Given the description of an element on the screen output the (x, y) to click on. 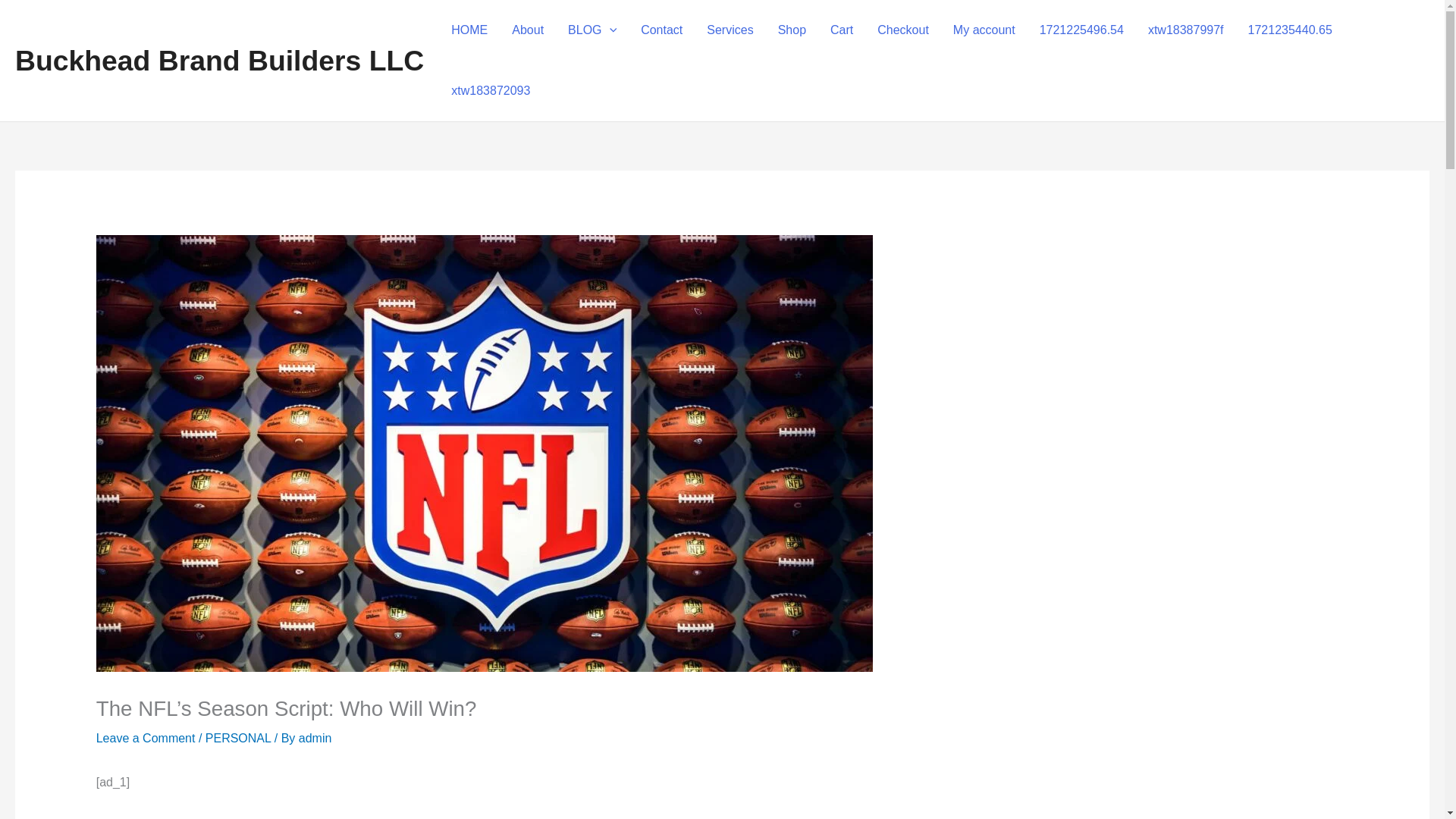
admin (314, 738)
Services (729, 30)
BLOG (592, 30)
1721225496.54 (1081, 30)
xtw18387997f (1185, 30)
1721235440.65 (1289, 30)
PERSONAL (237, 738)
About (527, 30)
xtw183872093 (490, 90)
Leave a Comment (145, 738)
View all posts by admin (314, 738)
My account (983, 30)
Checkout (902, 30)
Contact (661, 30)
Buckhead Brand Builders LLC (218, 60)
